Given the description of an element on the screen output the (x, y) to click on. 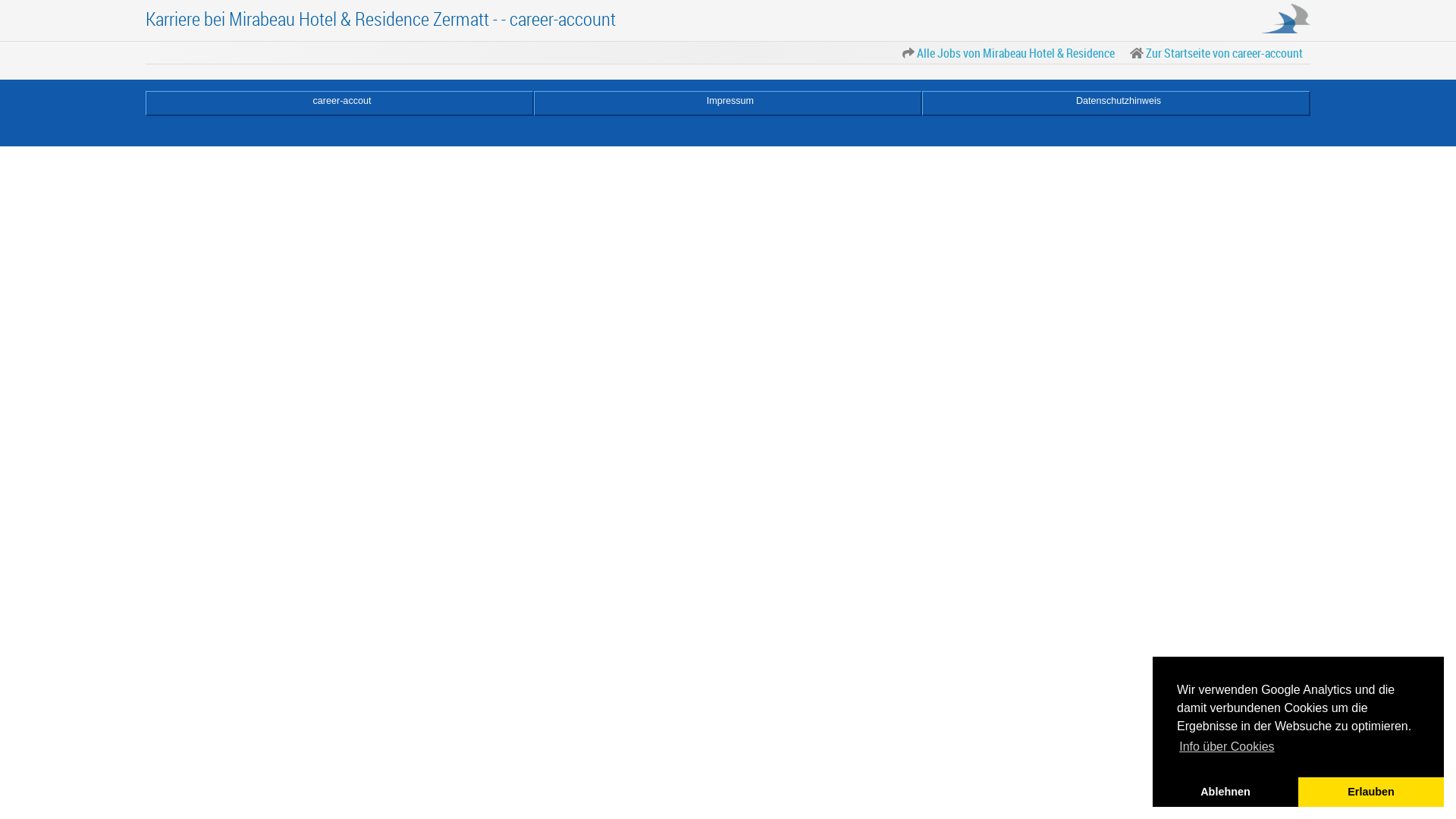
Ablehnen Element type: text (1225, 791)
Impressum Element type: text (727, 103)
Datenschutzhinweis Element type: text (1116, 103)
Zur Startseite von career-account Element type: text (1216, 52)
Erlauben Element type: text (1370, 791)
Alle Jobs von Mirabeau Hotel & Residence Element type: text (1008, 52)
career-accout Element type: text (339, 103)
